Given the description of an element on the screen output the (x, y) to click on. 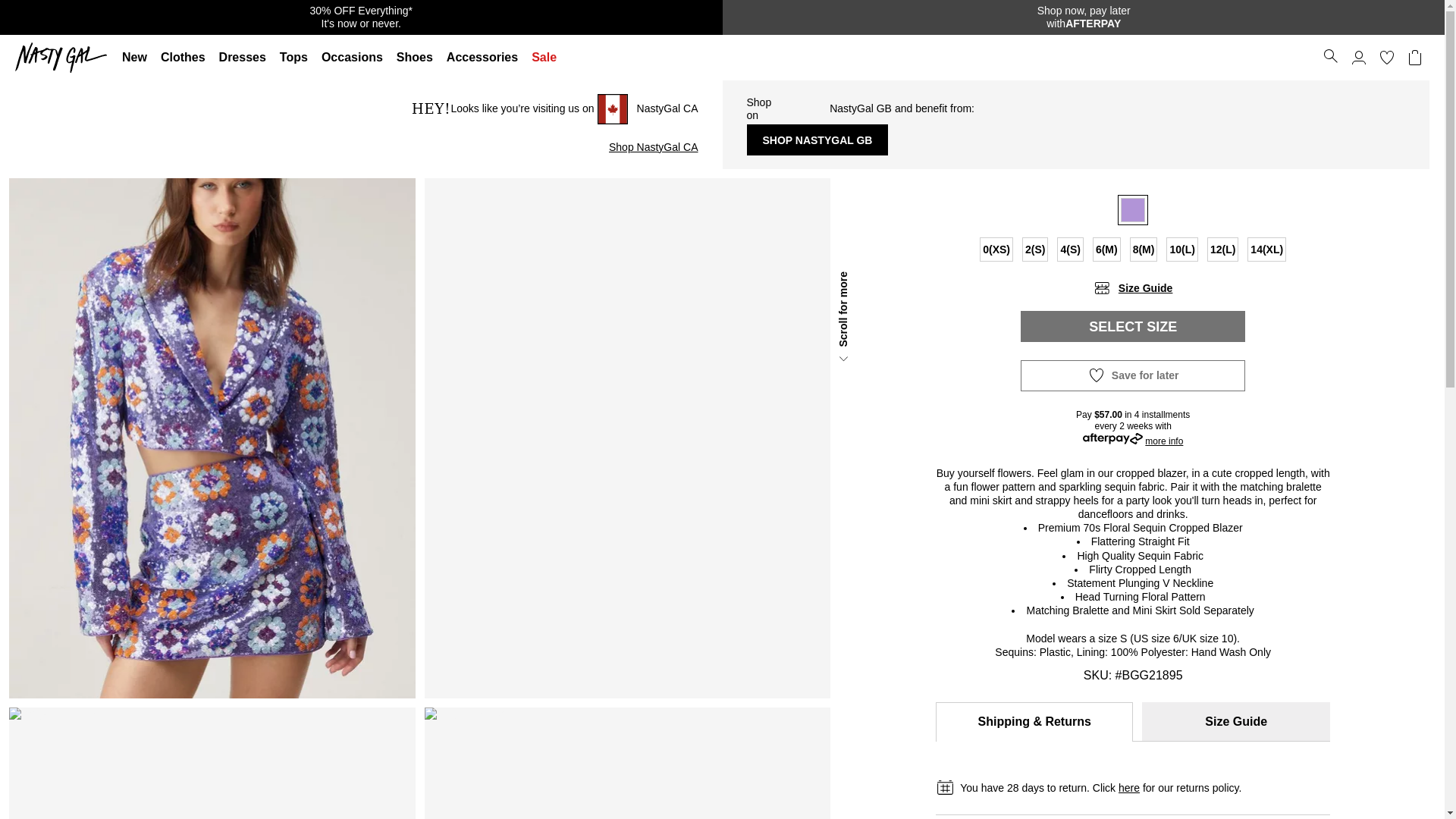
Search (1082, 17)
Wish List (1330, 55)
Scroll for more (1386, 57)
Nasty Gal (183, 57)
